Given the description of an element on the screen output the (x, y) to click on. 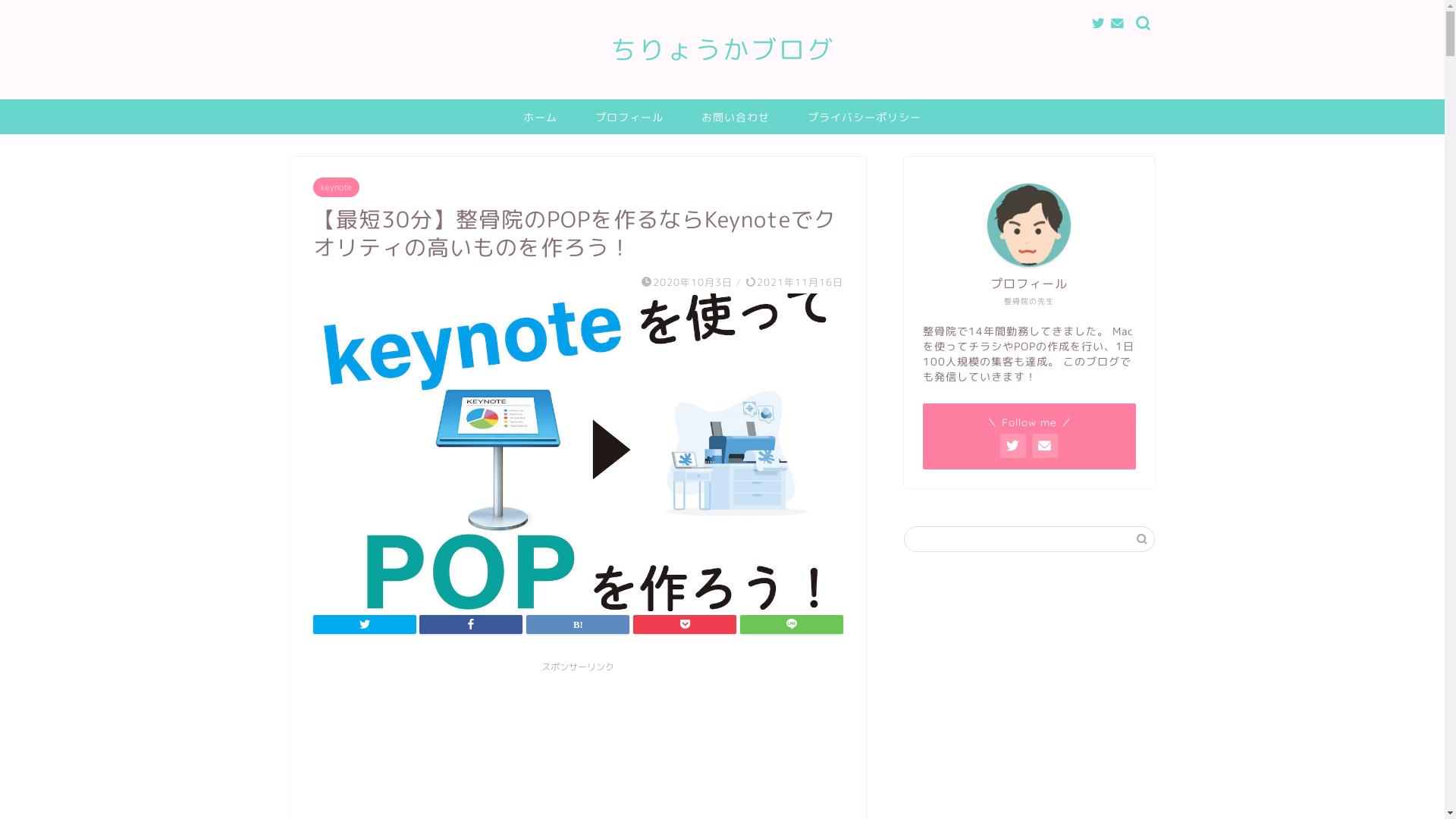
Advertisement Element type: hover (1028, 684)
keynote Element type: text (335, 187)
